Given the description of an element on the screen output the (x, y) to click on. 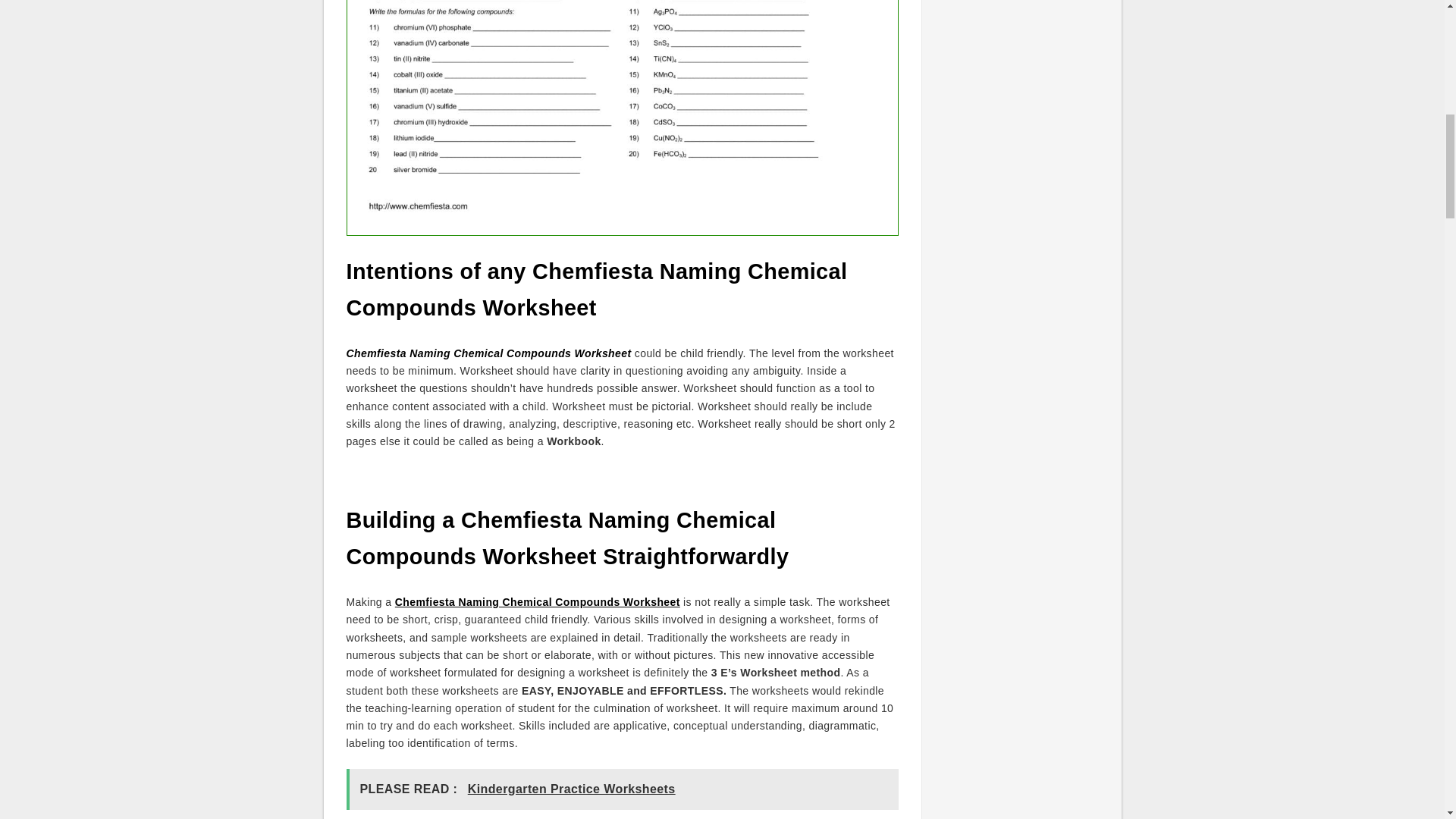
Chemfiesta Naming Chemical Compounds Worksheet (488, 353)
PLEASE READ :   Kindergarten Practice Worksheets (622, 789)
Chemfiesta Naming Chemical Compounds Worksheet (536, 602)
